Given the description of an element on the screen output the (x, y) to click on. 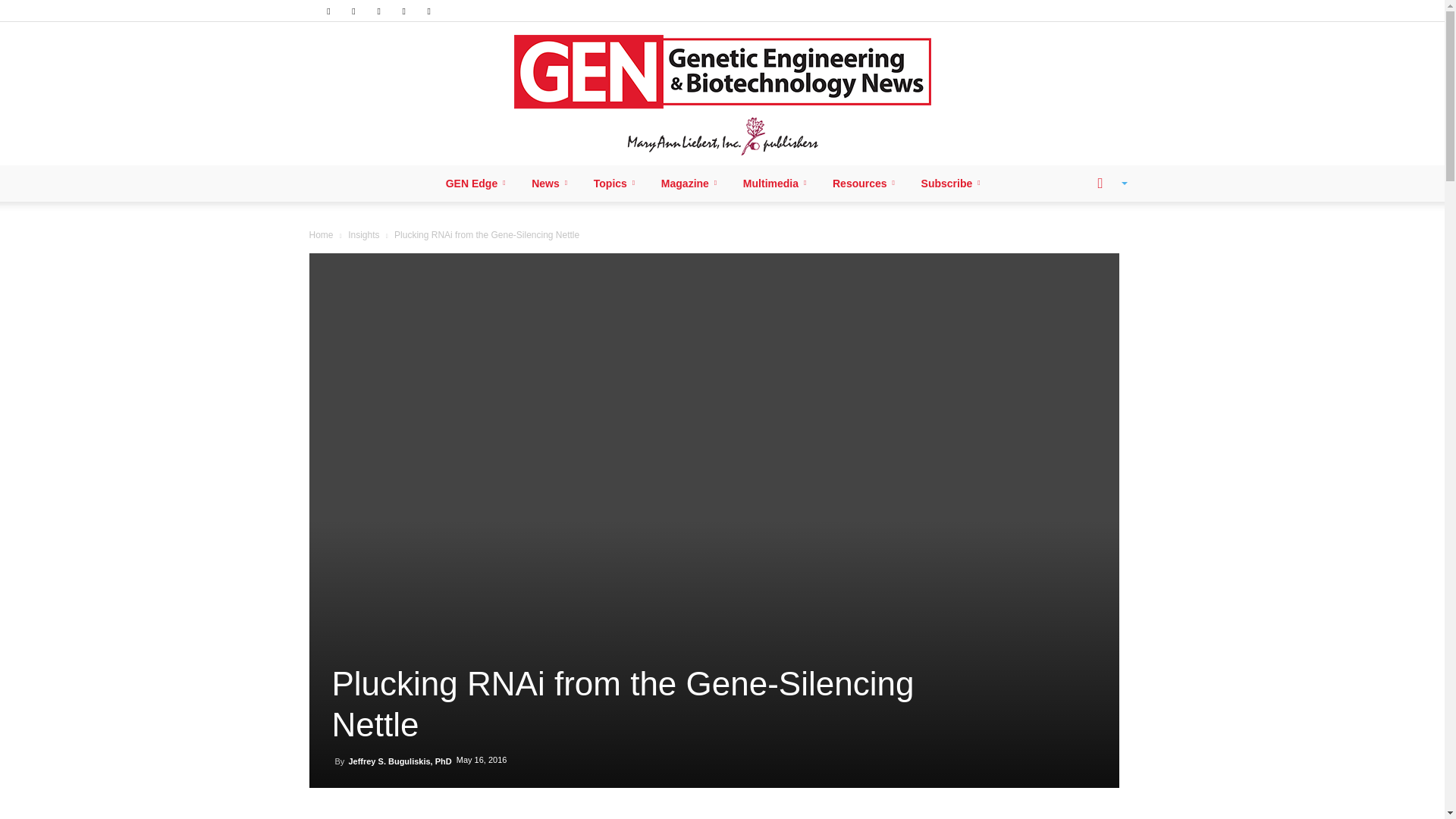
Twitter (403, 10)
Posts by Jeffrey S. Buguliskis, PhD (399, 760)
View all posts in Insights (362, 235)
Linkedin (353, 10)
Youtube (429, 10)
RSS (379, 10)
Facebook (328, 10)
